Given the description of an element on the screen output the (x, y) to click on. 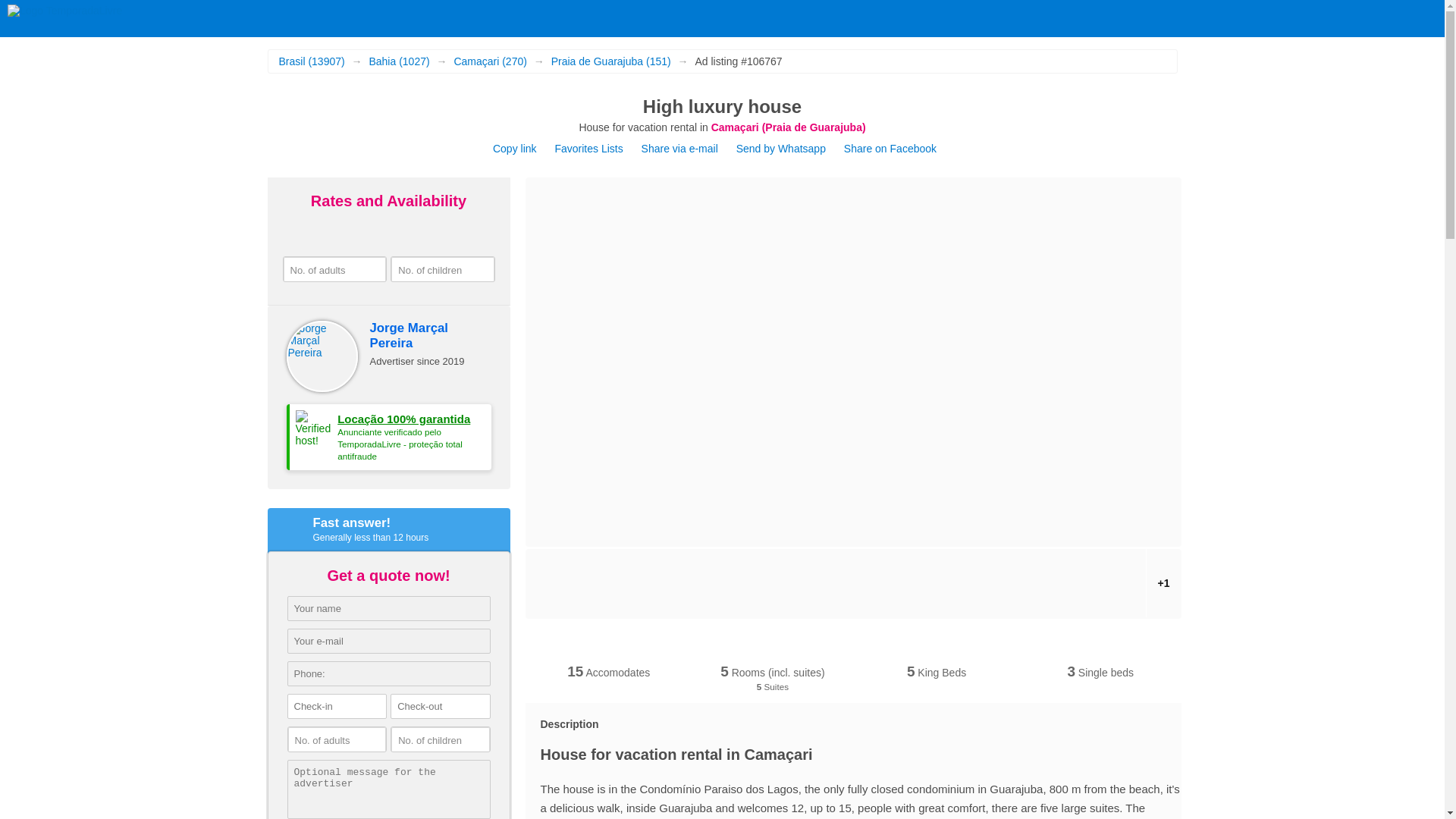
Find vacation rental in Brazil (64, 10)
Share via e-mail (679, 148)
Favorites Lists (588, 148)
Copy link (515, 148)
Send by Whatsapp (782, 148)
Share on Facebook (890, 148)
